Given the description of an element on the screen output the (x, y) to click on. 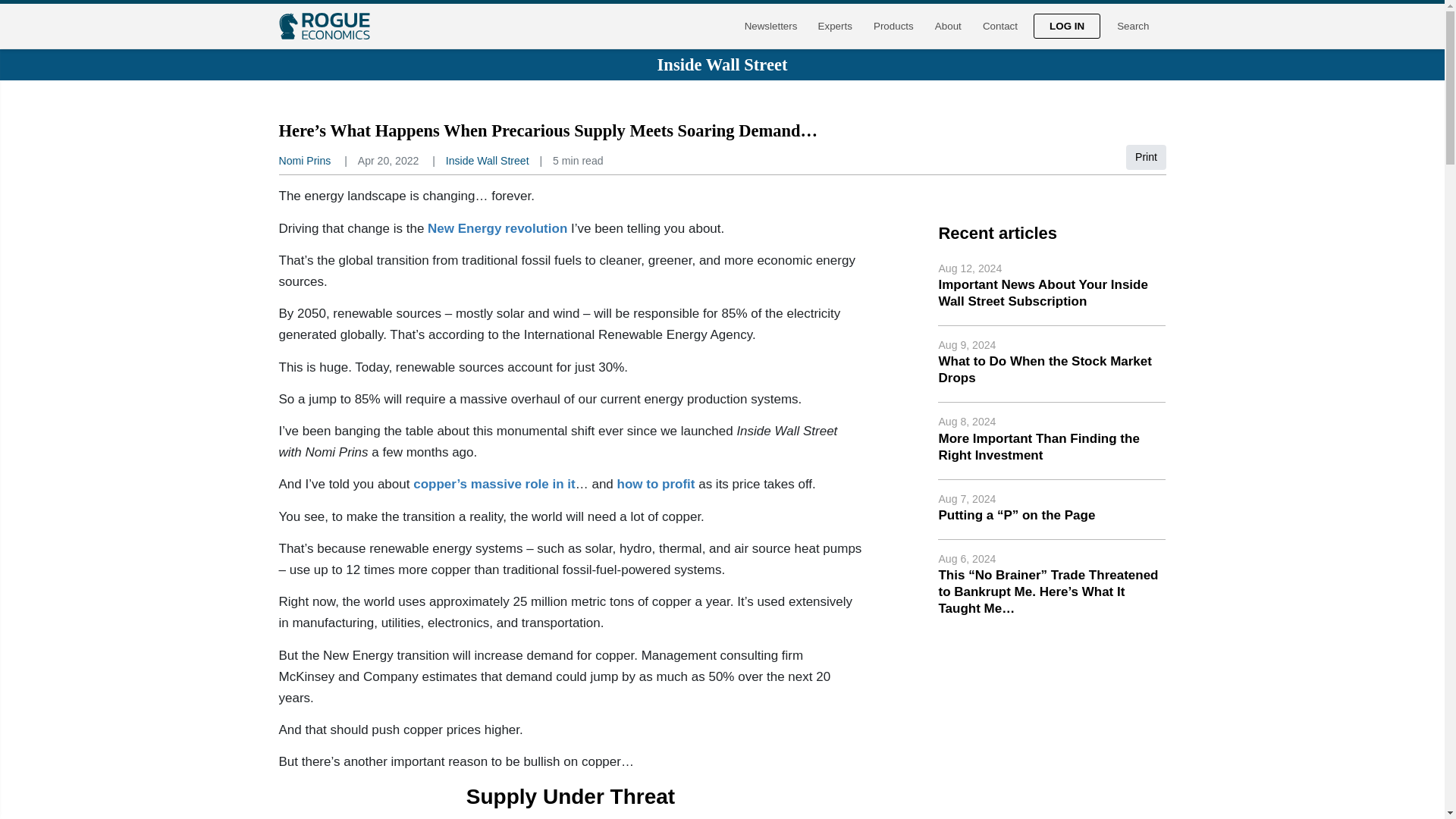
LOG IN (1066, 25)
Rogue Economics (324, 26)
More Important Than Finding the Right Investment (1037, 446)
More Important Than Finding the Right Investment (1037, 446)
how to profit (656, 483)
Important News About Your Inside Wall Street Subscription (1042, 292)
About (948, 25)
What to Do When the Stock Market Drops (1044, 368)
Nomi Prins (305, 160)
Contact (999, 25)
